Given the description of an element on the screen output the (x, y) to click on. 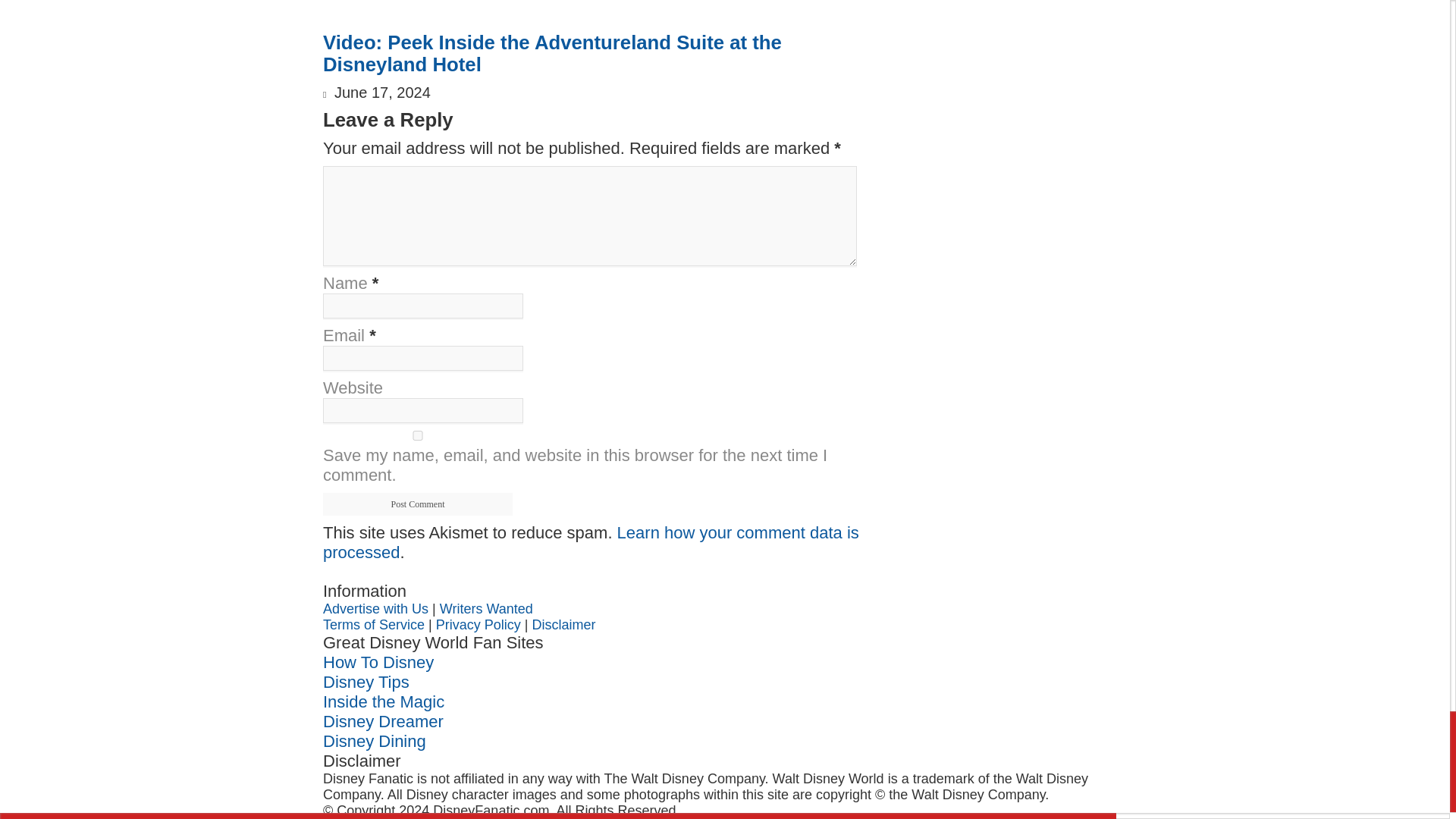
yes (417, 435)
Post Comment (417, 504)
